Given the description of an element on the screen output the (x, y) to click on. 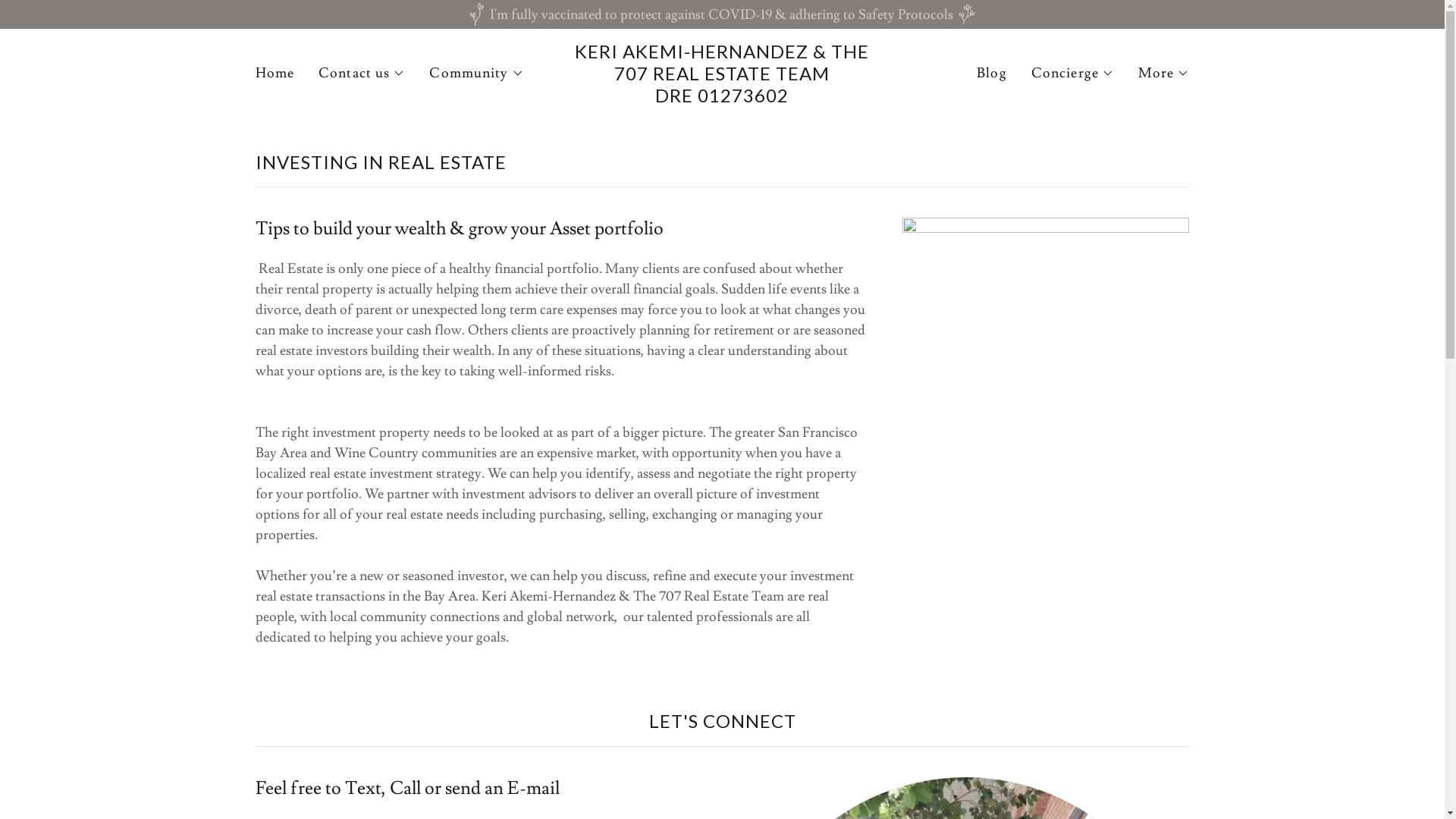
More Element type: text (1163, 73)
Community Element type: text (476, 73)
Home Element type: text (274, 73)
Blog Element type: text (991, 73)
Concierge Element type: text (1072, 73)
Contact us Element type: text (361, 73)
KERI AKEMI-HERNANDEZ & THE 707 REAL ESTATE TEAM
DRE 01273602 Element type: text (722, 97)
